Given the description of an element on the screen output the (x, y) to click on. 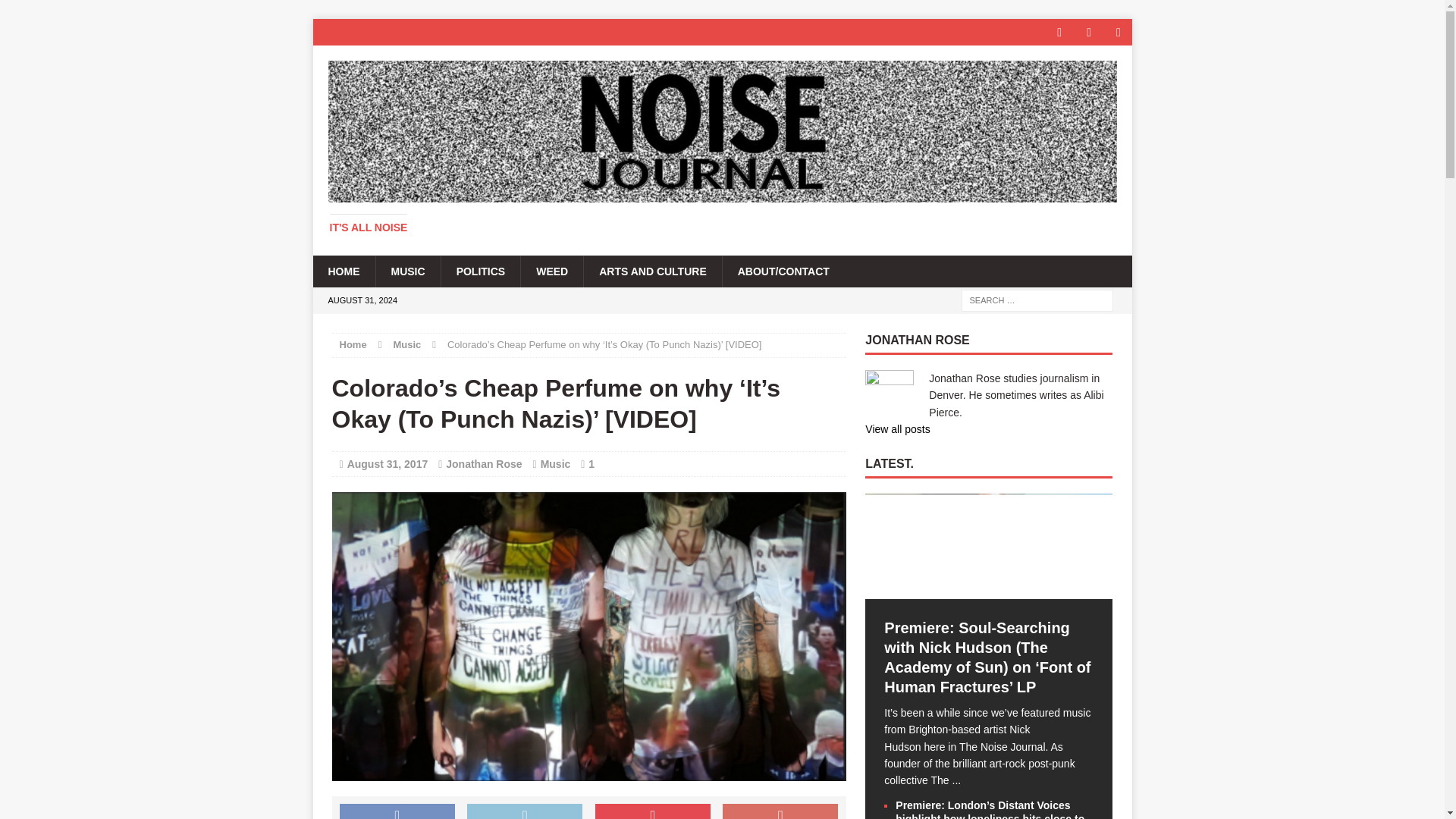
Politics (481, 271)
Facebook (1059, 31)
POLITICS (481, 271)
SoundCloud (1118, 31)
Arts and Culture (652, 271)
Twitter (1088, 31)
August 31, 2017 (387, 463)
Music (406, 271)
Music (555, 463)
ARTS AND CULTURE (652, 271)
